Given the description of an element on the screen output the (x, y) to click on. 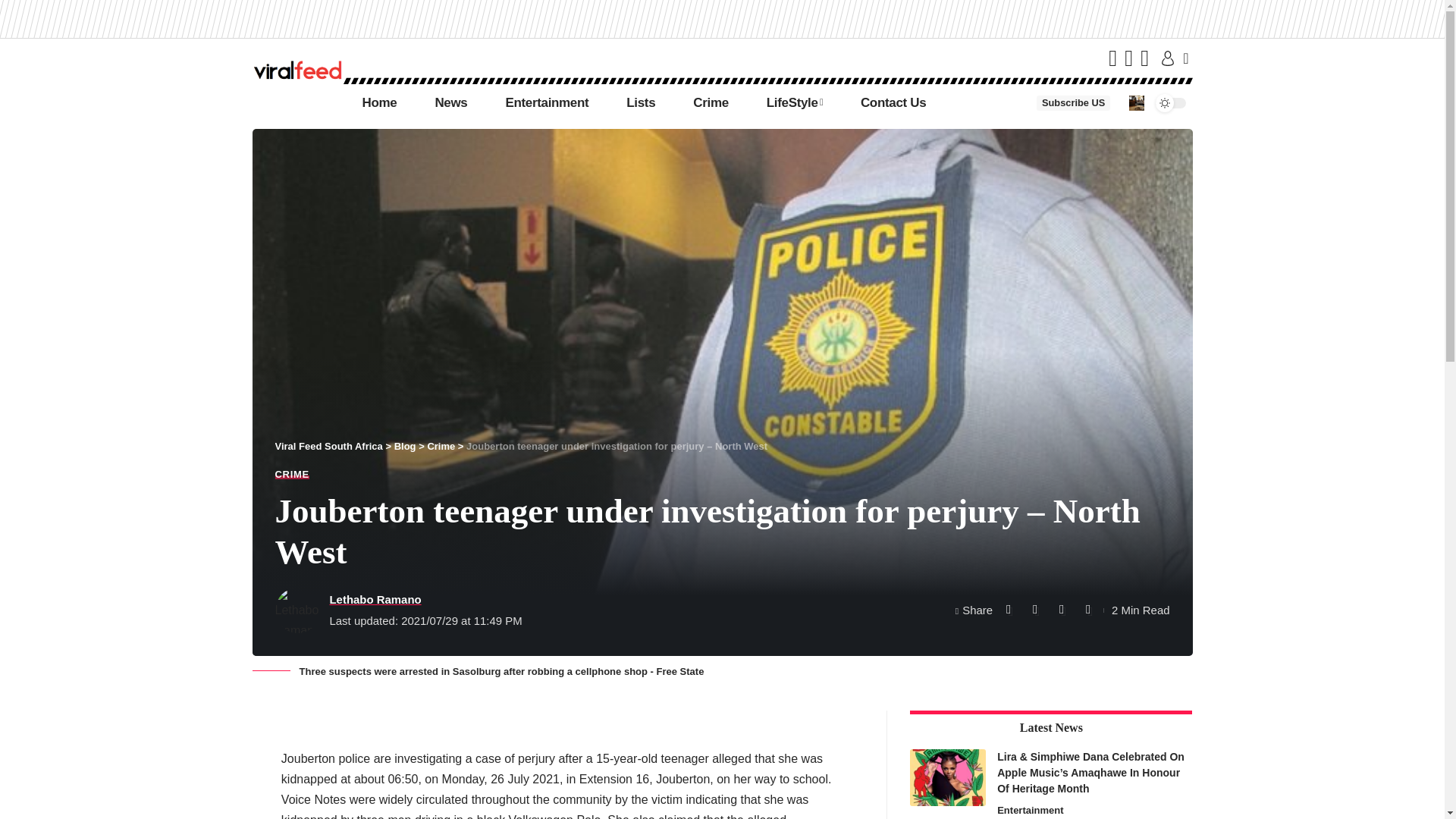
News (450, 103)
Go to Blog. (405, 446)
Subscribe US (1072, 103)
Lists (640, 103)
Lethabo Ramano (374, 599)
Entertainment (546, 103)
LifeStyle (794, 103)
Go to Viral Feed South Africa. (328, 446)
Contact Us (892, 103)
Viral Feed South Africa (328, 446)
Blog (405, 446)
CRIME (291, 474)
Crime (711, 103)
Go to the Crime Category archives. (440, 446)
Crime (440, 446)
